Given the description of an element on the screen output the (x, y) to click on. 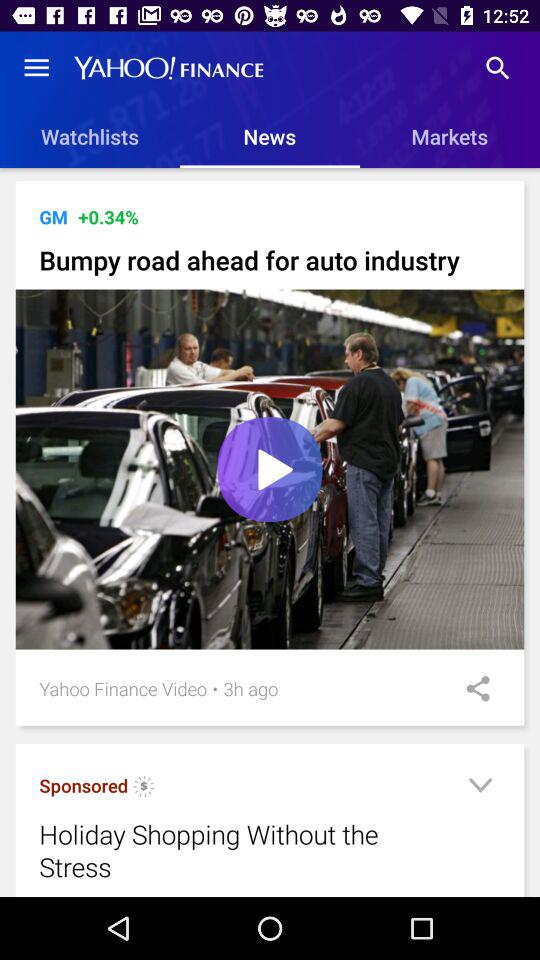
tap item below gm icon (269, 259)
